Given the description of an element on the screen output the (x, y) to click on. 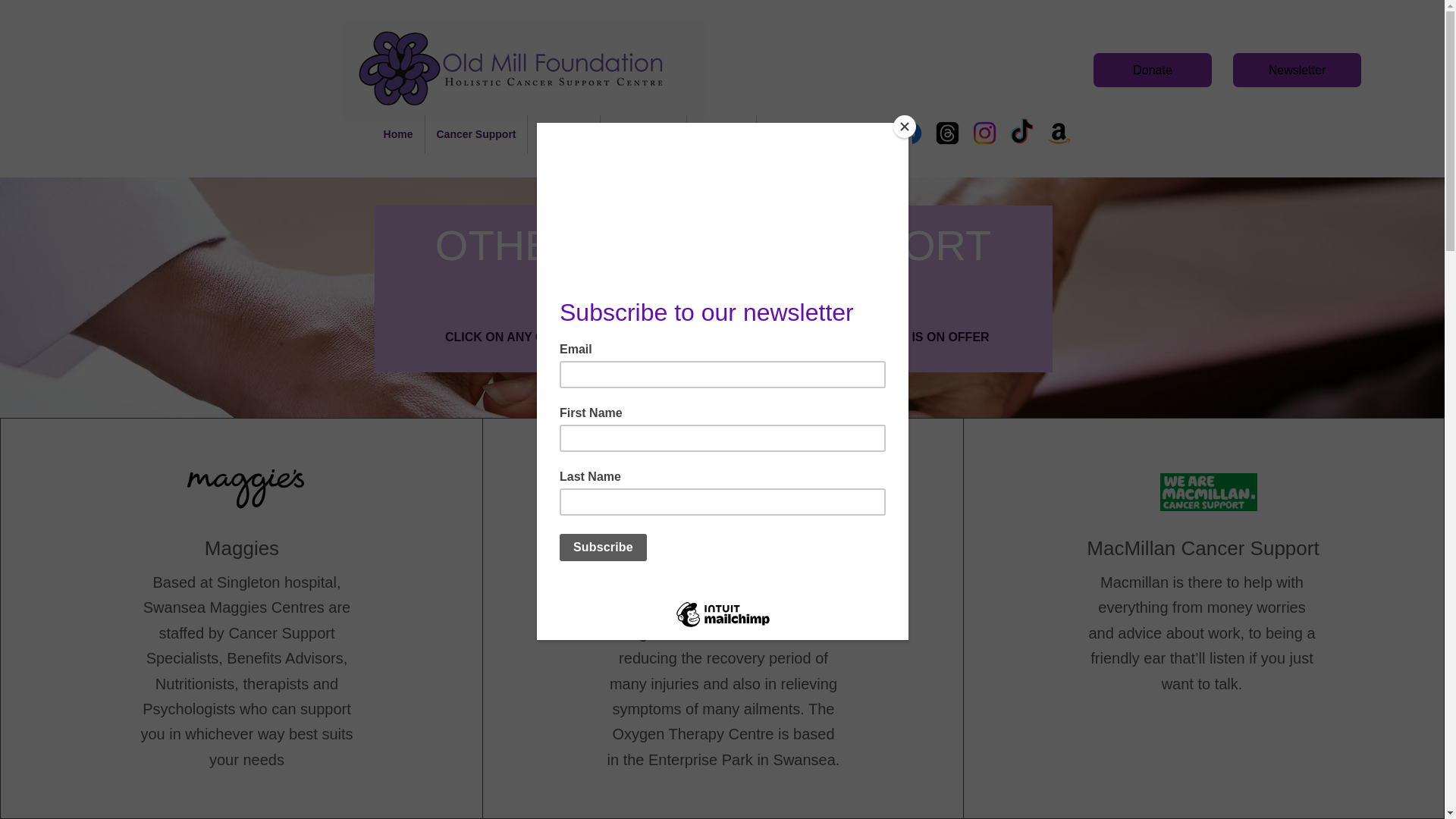
About Us (721, 134)
Whats On (563, 134)
Donate (1152, 69)
maggiesLogo.png (245, 488)
Get Involved (642, 134)
Home (397, 134)
Newsletter (1297, 69)
Contact (787, 134)
